Given the description of an element on the screen output the (x, y) to click on. 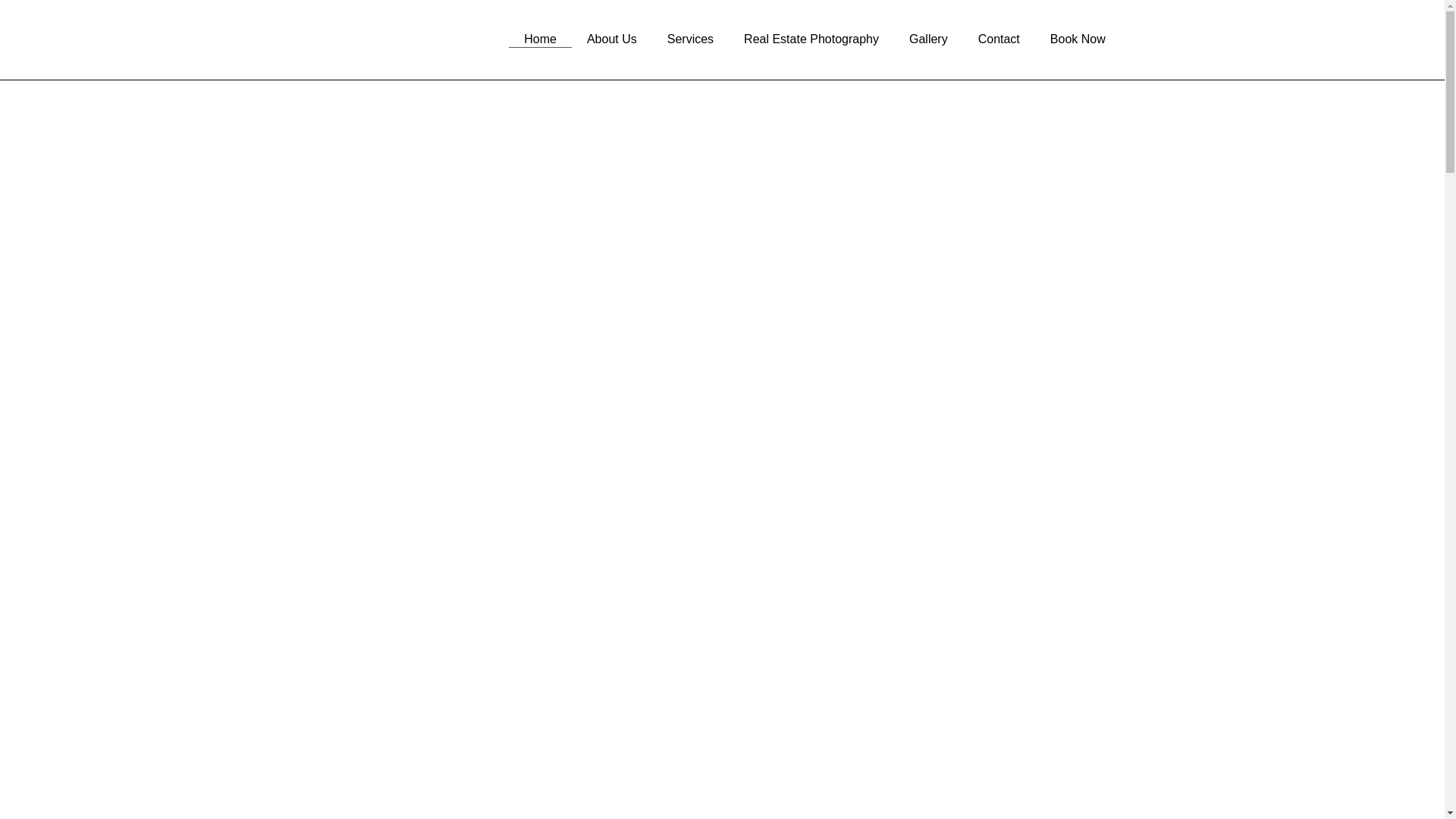
Gallery Element type: text (928, 39)
About Us Element type: text (611, 39)
Contact Element type: text (999, 39)
Book Now Element type: text (1077, 39)
Real Estate Photography Element type: text (811, 39)
Services Element type: text (690, 39)
Home Element type: text (539, 39)
